Given the description of an element on the screen output the (x, y) to click on. 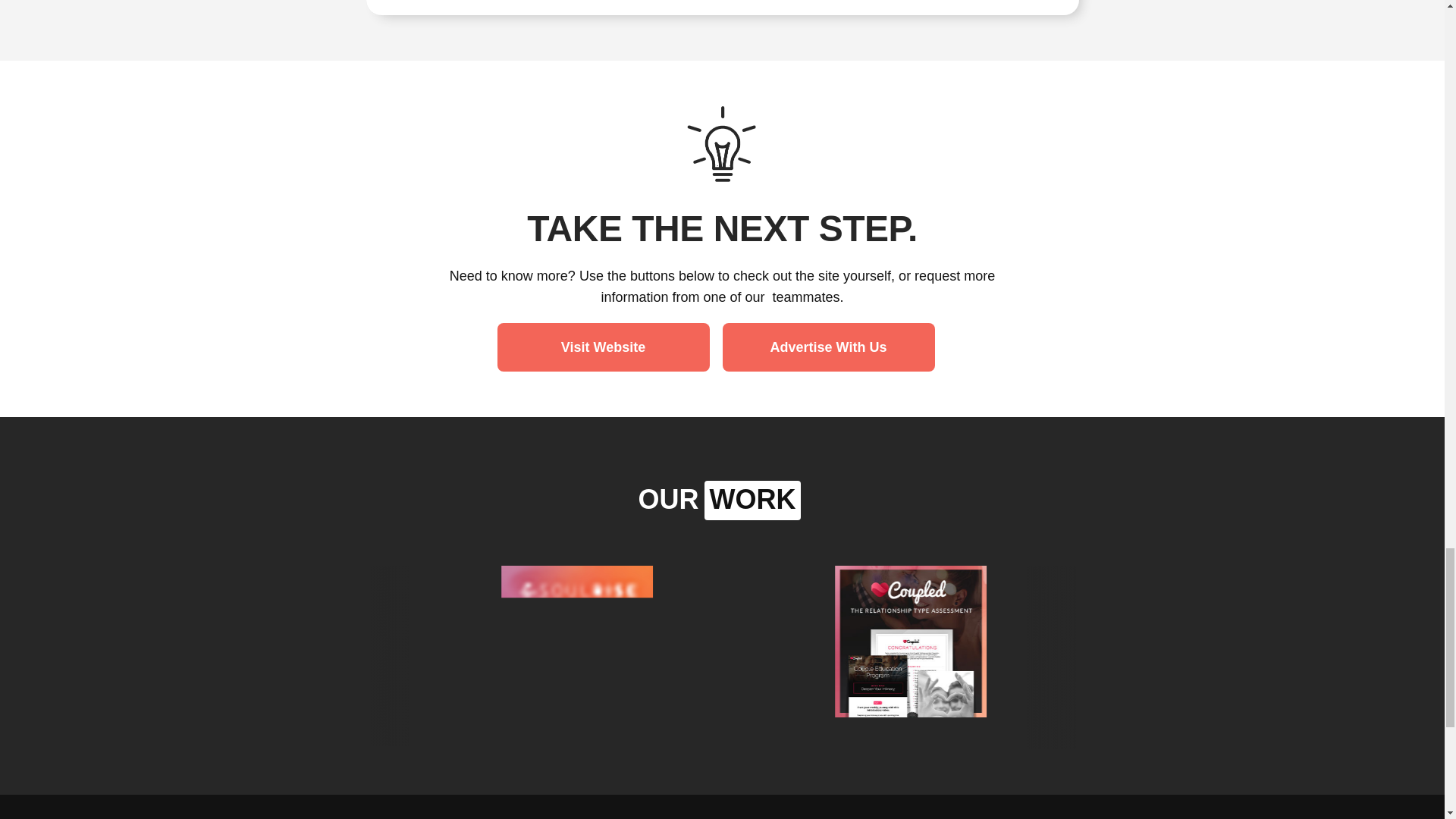
Visit Website (603, 346)
Advertise With Us (828, 346)
